Given the description of an element on the screen output the (x, y) to click on. 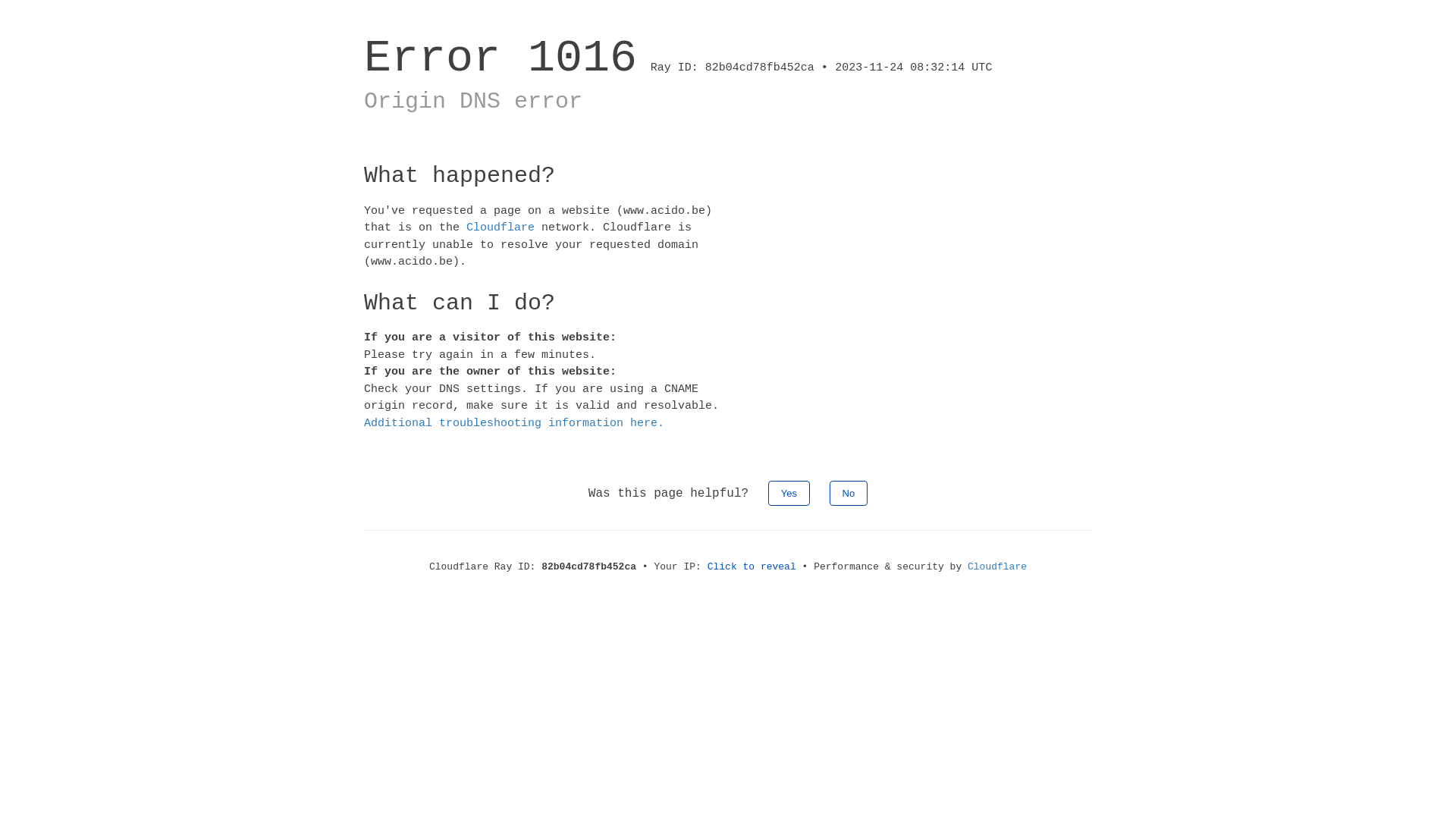
Yes Element type: text (788, 492)
Cloudflare Element type: text (996, 566)
Click to reveal Element type: text (751, 566)
No Element type: text (848, 492)
Cloudflare Element type: text (500, 227)
Additional troubleshooting information here. Element type: text (514, 423)
